Given the description of an element on the screen output the (x, y) to click on. 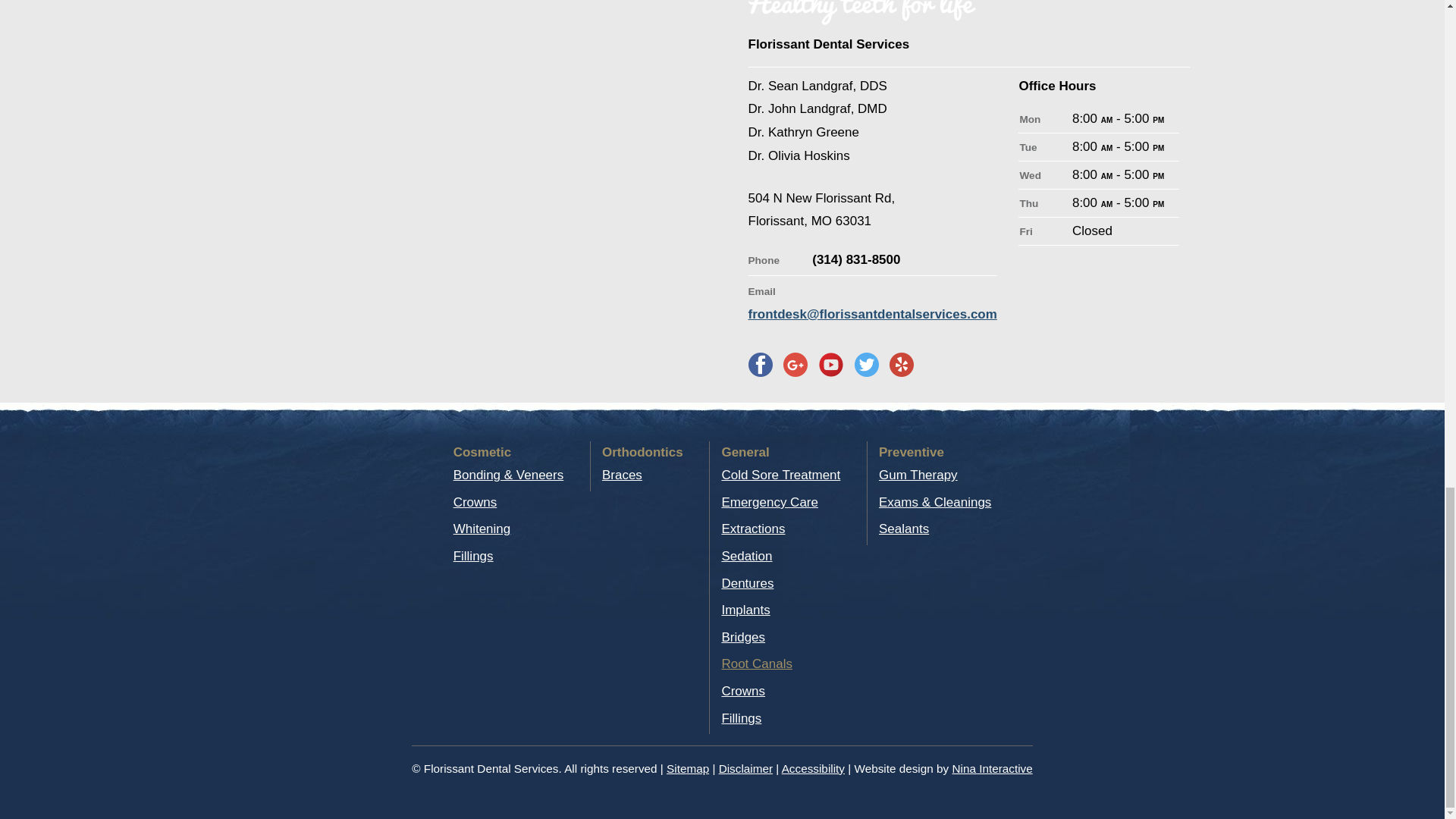
Follow us on Facebook (759, 364)
Follow us on Facebook (866, 364)
Watch us on Facebook (830, 364)
Follow us on Facebook (795, 364)
Follow us on Facebook (901, 364)
